Given the description of an element on the screen output the (x, y) to click on. 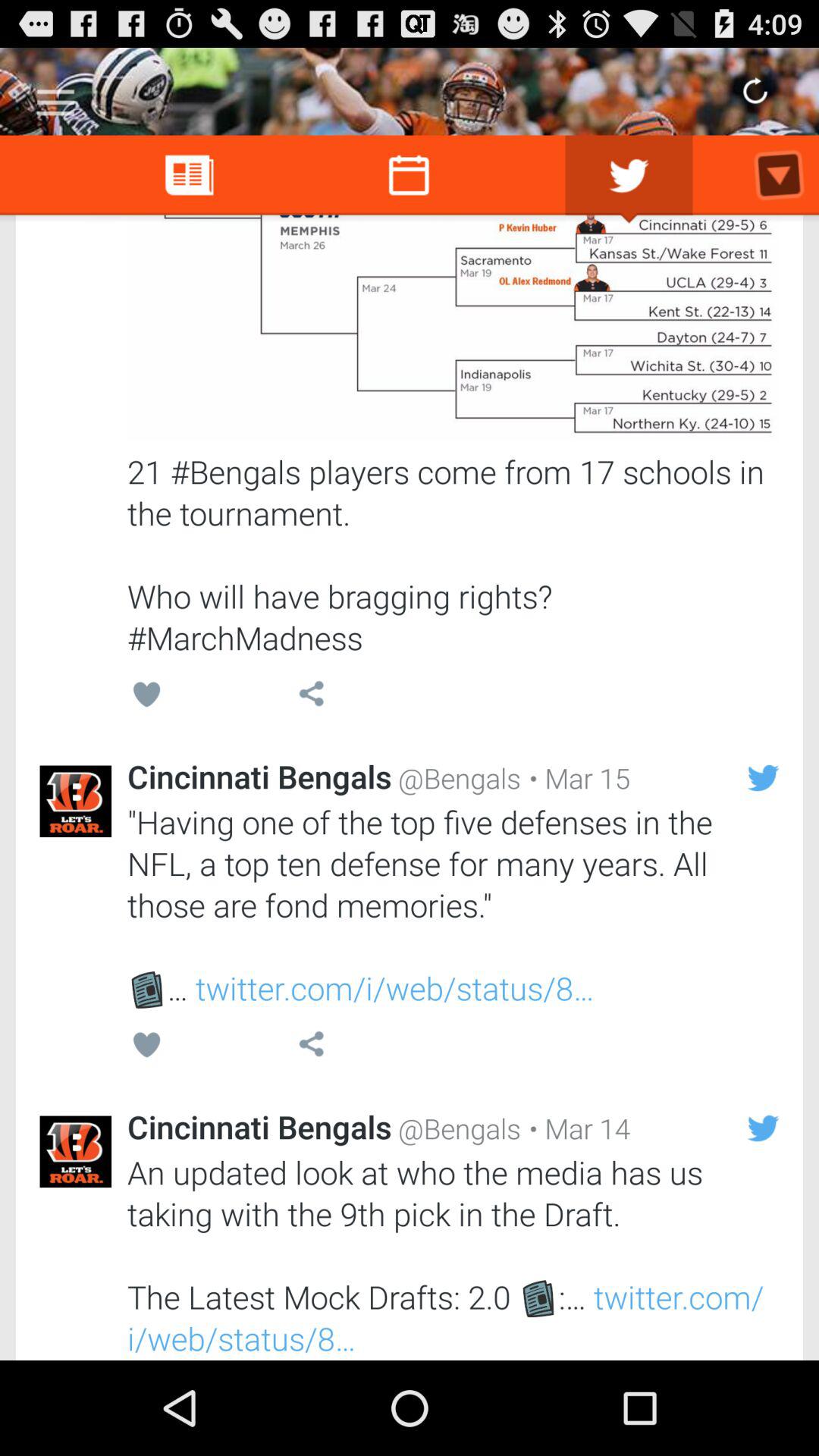
press the having one of (453, 904)
